Given the description of an element on the screen output the (x, y) to click on. 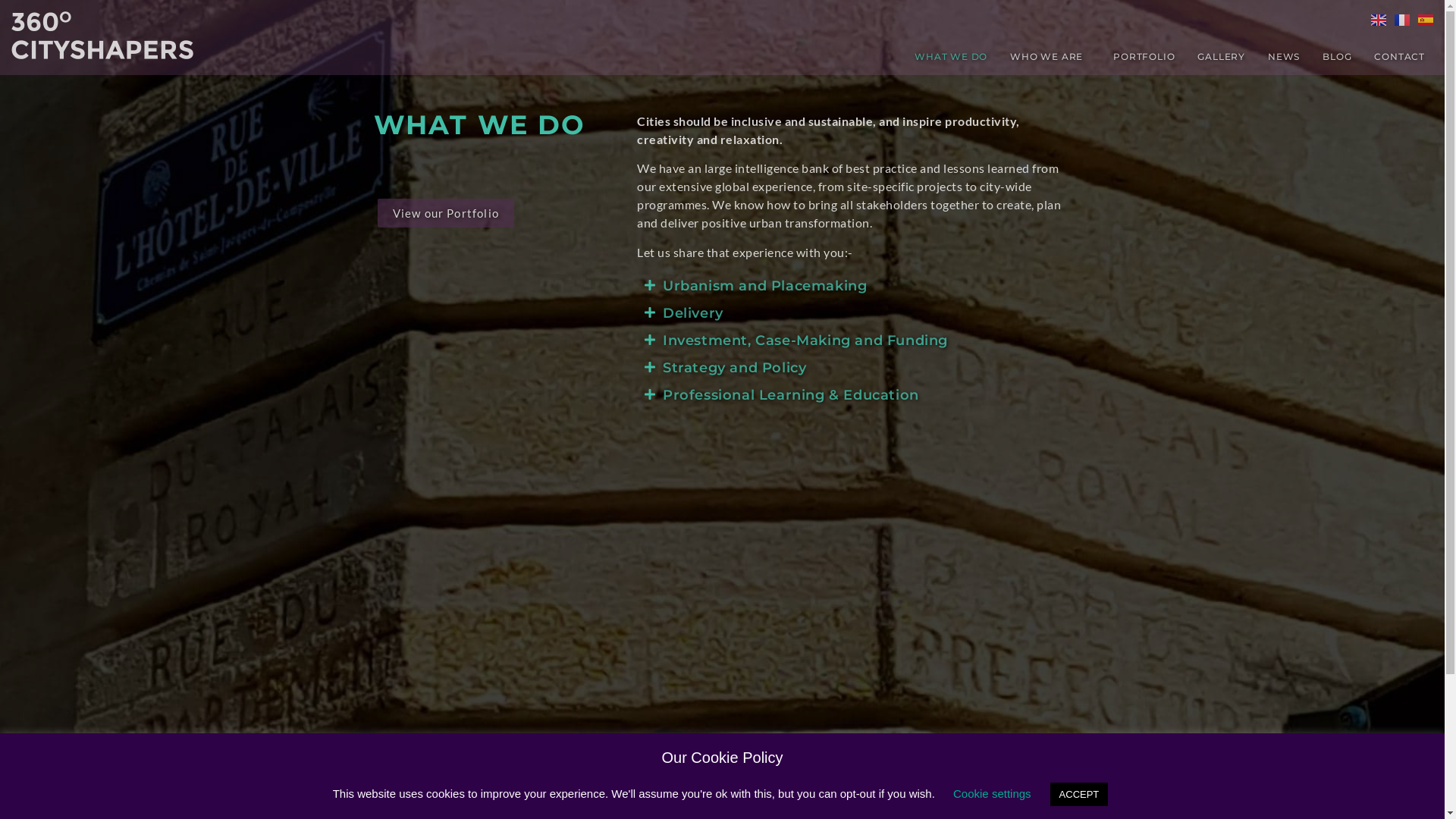
Investment, Case-Making and Funding Element type: text (804, 340)
WHAT WE DO Element type: text (950, 56)
Strategy and Policy Element type: text (734, 367)
GALLERY Element type: text (1221, 56)
BLOG Element type: text (1336, 56)
PORTFOLIO Element type: text (1143, 56)
View our Portfolio Element type: text (445, 212)
NEWS Element type: text (1283, 56)
CONTACT Element type: text (1399, 56)
WHO WE ARE Element type: text (1050, 56)
Urbanism and Placemaking Element type: text (764, 285)
Professional Learning & Education Element type: text (790, 394)
cropped-Cityshapers_White_Logo.png Element type: hover (102, 35)
Delivery Element type: text (692, 312)
ACCEPT Element type: text (1079, 794)
Cookie settings Element type: text (992, 793)
